Given the description of an element on the screen output the (x, y) to click on. 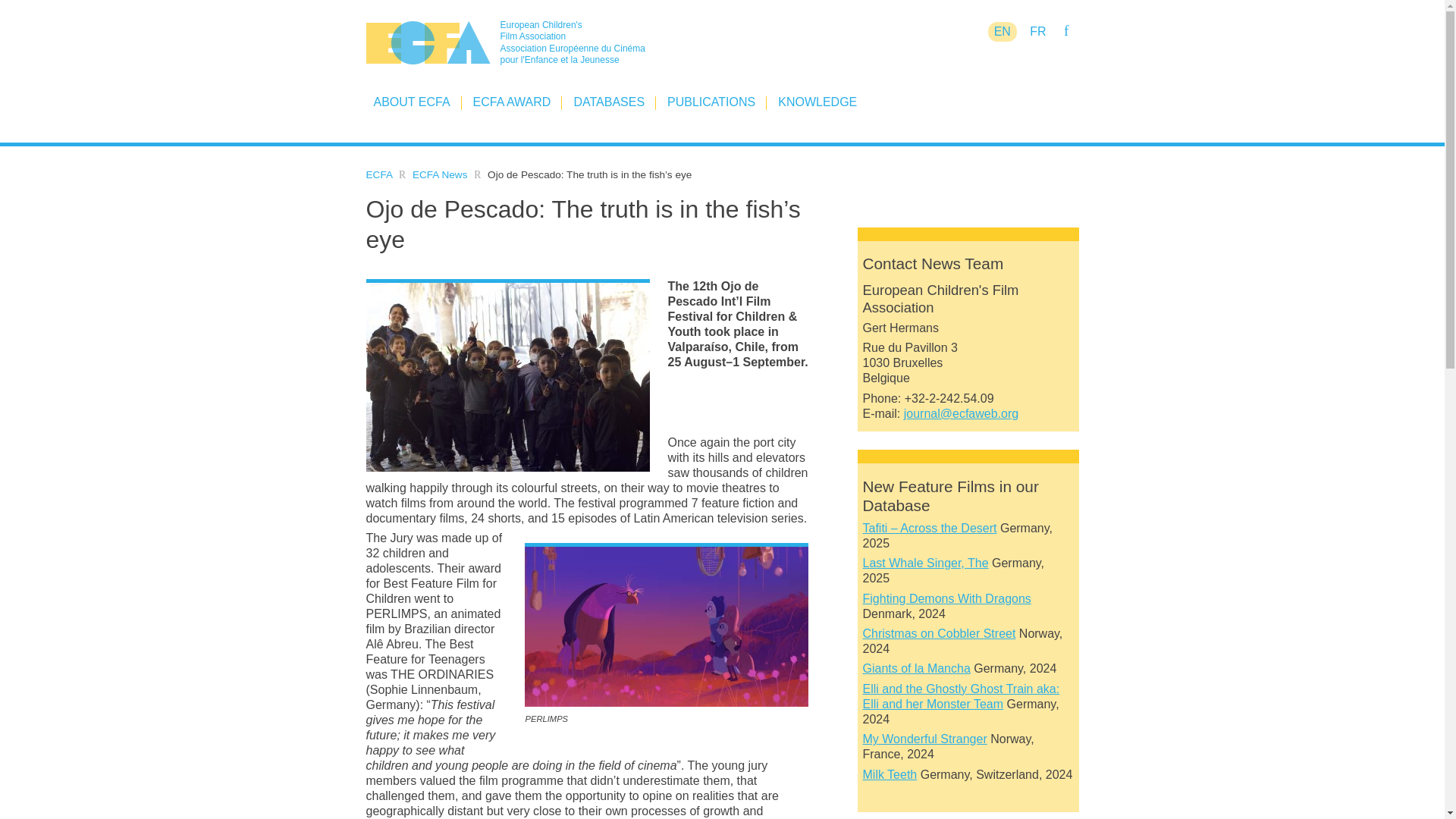
ABOUT ECFA (411, 102)
FR (1037, 31)
Visit ECFA on facebook! (1064, 30)
Click for further information! (939, 633)
ECFA (378, 174)
Click for further information! (890, 774)
Click for further information! (961, 696)
Click for further information! (925, 738)
Click for further information! (946, 598)
ECFA AWARD (512, 102)
Click for further information! (925, 562)
f (1064, 30)
Click for further information! (917, 667)
DATABASES (609, 102)
Click for further information! (930, 527)
